Given the description of an element on the screen output the (x, y) to click on. 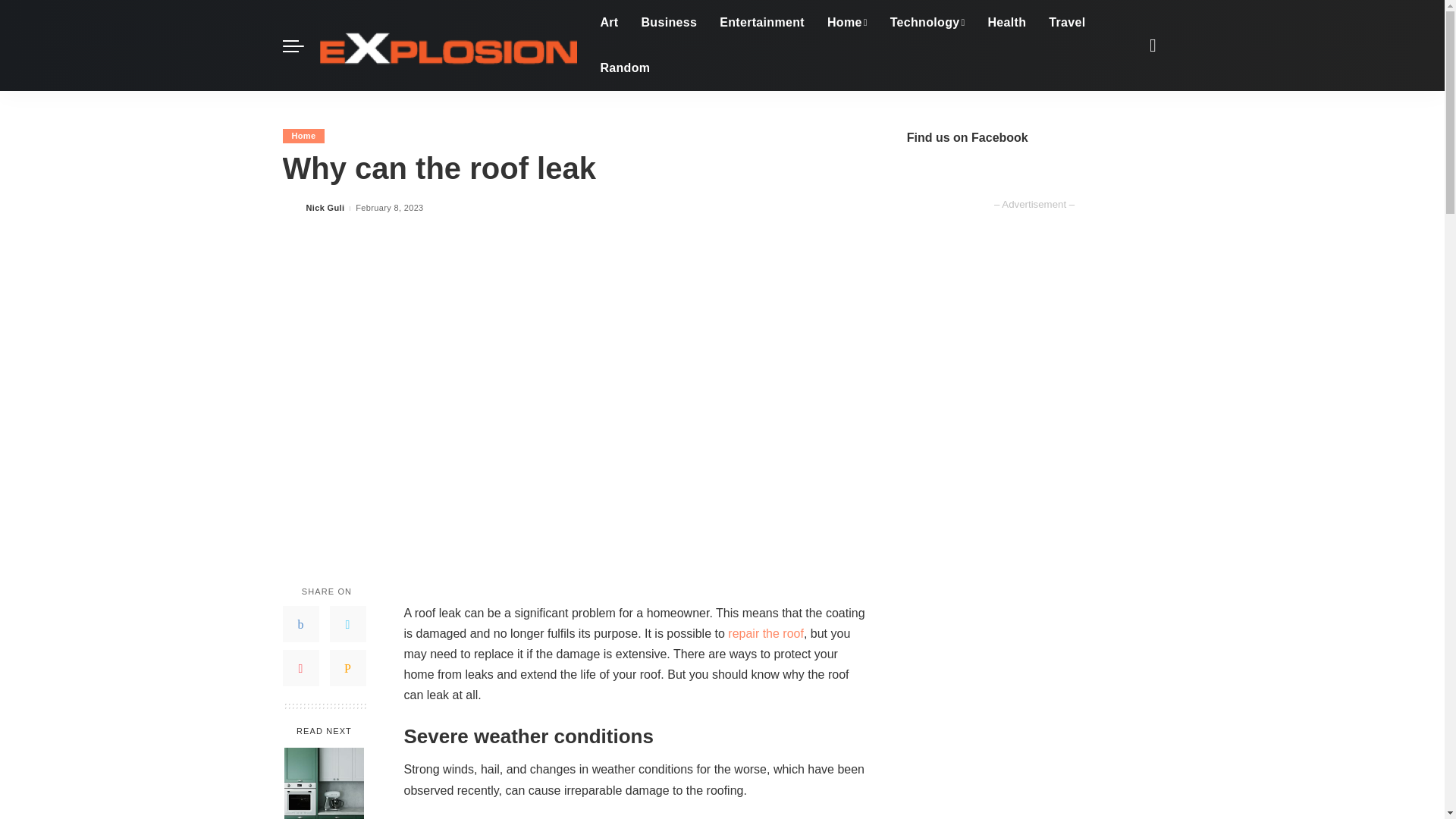
Travel (1066, 22)
Random (624, 67)
Explosion (447, 44)
Pinterest (300, 668)
Technology (927, 22)
Home (847, 22)
Search (1140, 121)
Email (347, 668)
Twitter (347, 624)
Nick Guli (325, 207)
